Given the description of an element on the screen output the (x, y) to click on. 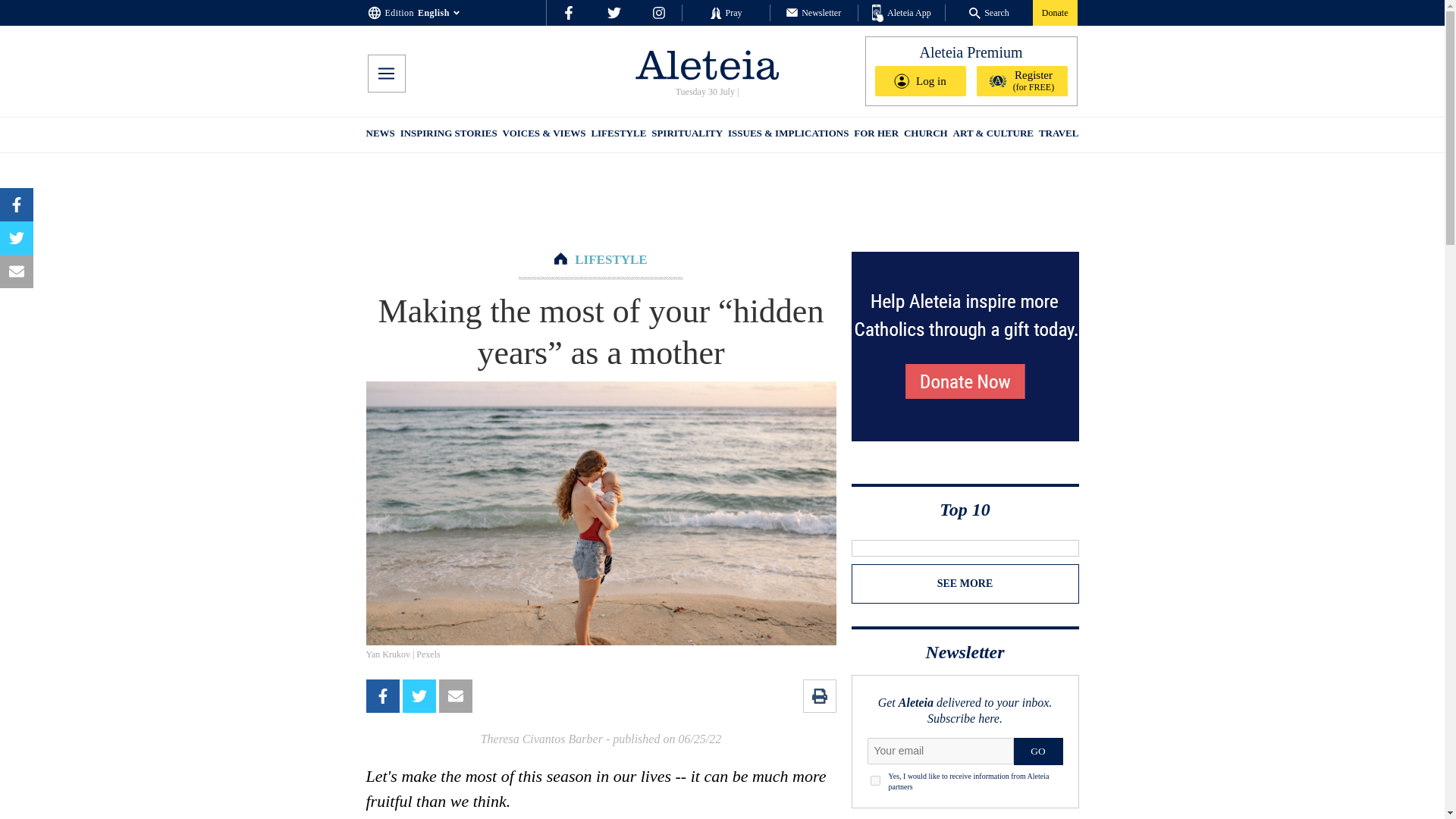
LIFESTYLE (610, 259)
LIFESTYLE (618, 134)
Newsletter (813, 12)
Donate (1054, 12)
Search (989, 12)
SPIRITUALITY (686, 134)
CHURCH (925, 134)
Log in (920, 81)
Aleteia App (901, 13)
INSPIRING STORIES (448, 134)
TRAVEL (1058, 134)
FOR HER (875, 134)
1 (875, 780)
Pray (725, 12)
